Given the description of an element on the screen output the (x, y) to click on. 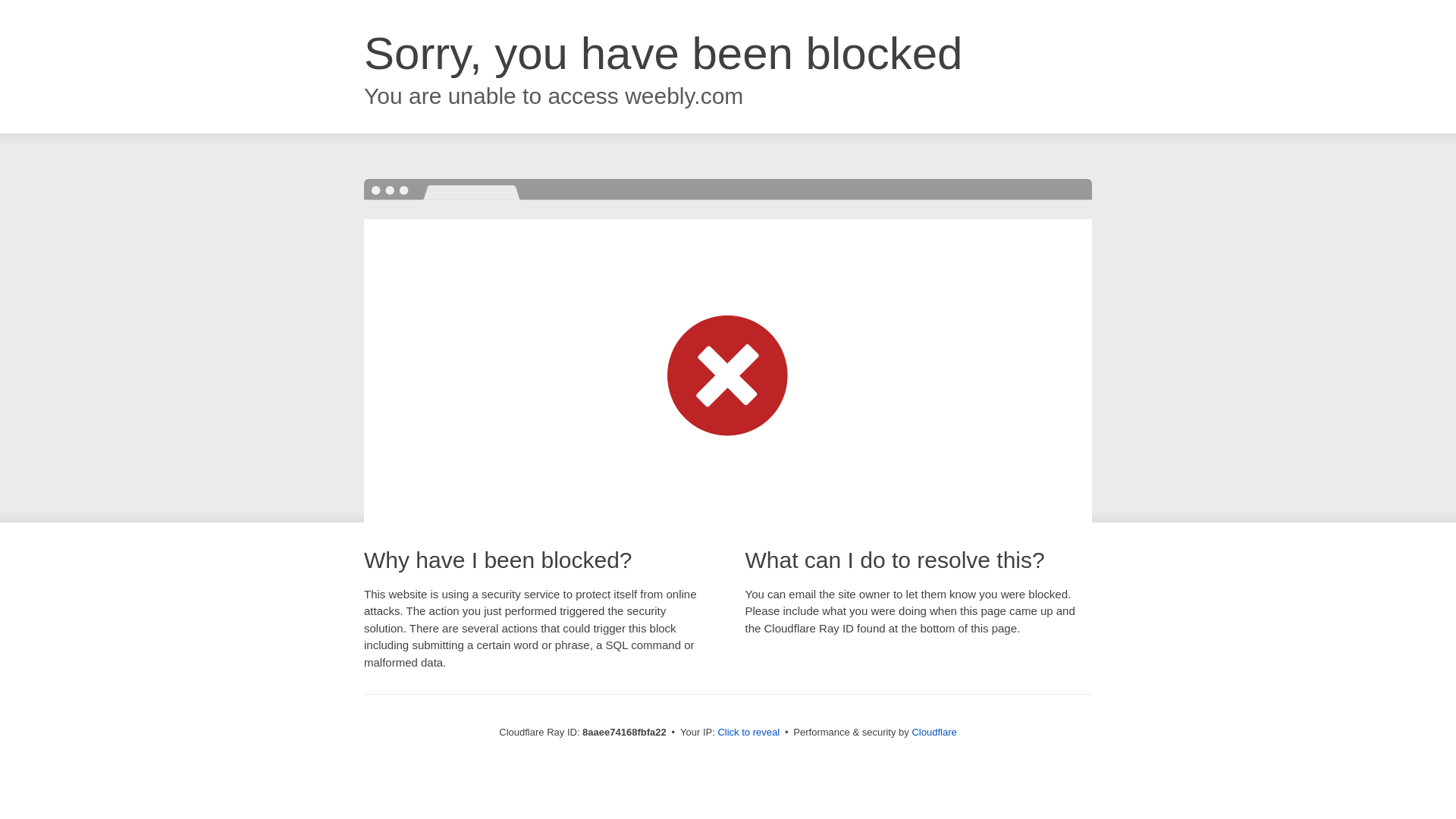
Cloudflare (933, 731)
Click to reveal (747, 732)
